Given the description of an element on the screen output the (x, y) to click on. 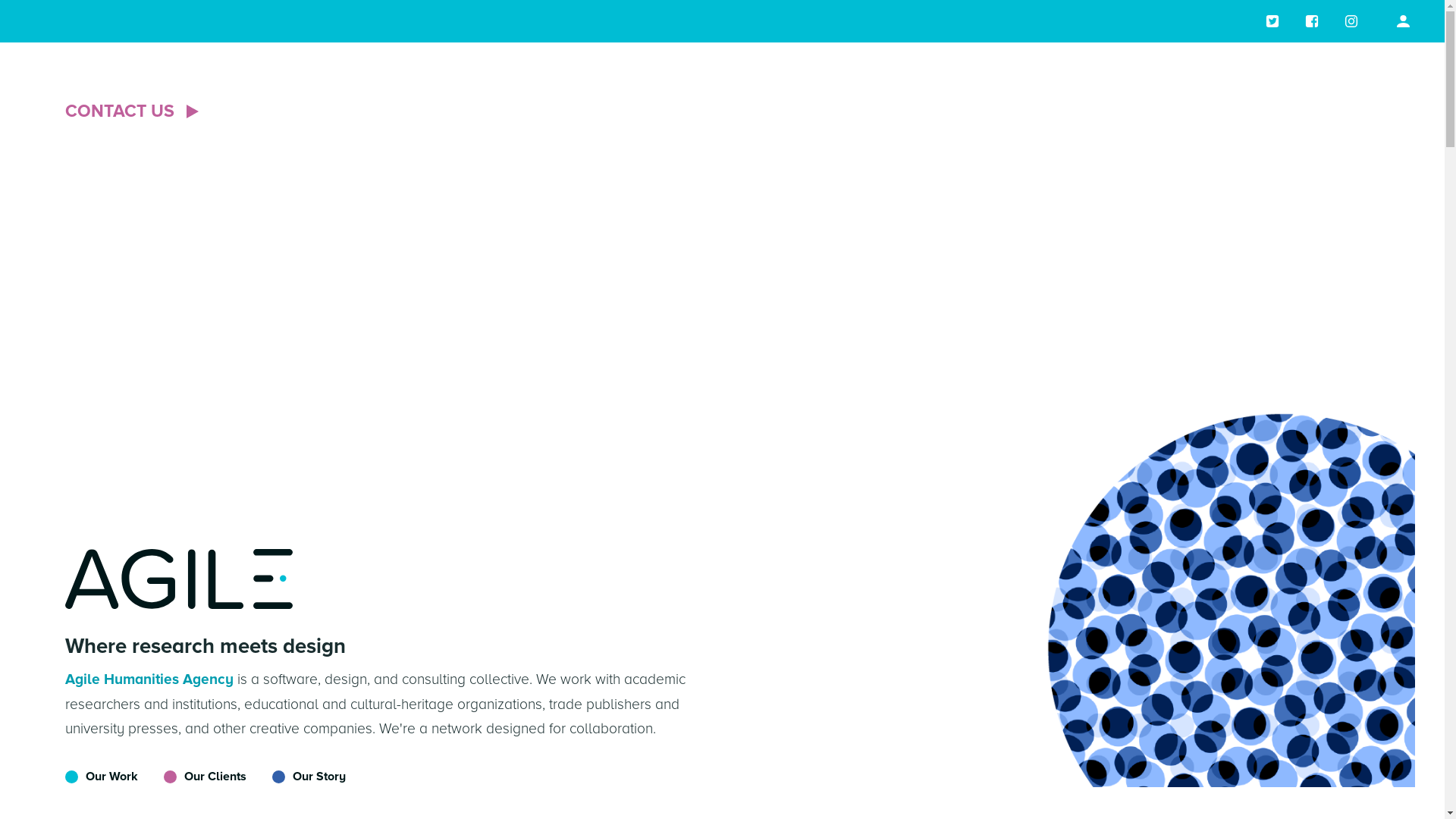
CONTACT US Element type: text (134, 111)
profile page Element type: hover (1403, 20)
Our Story Element type: text (297, 776)
Facebook page Element type: hover (1311, 20)
Skip to main content Element type: text (0, 0)
Instagram page Element type: hover (1350, 20)
Twitter page Element type: hover (1272, 20)
Our Work Element type: text (101, 776)
Our Clients Element type: text (193, 776)
